Given the description of an element on the screen output the (x, y) to click on. 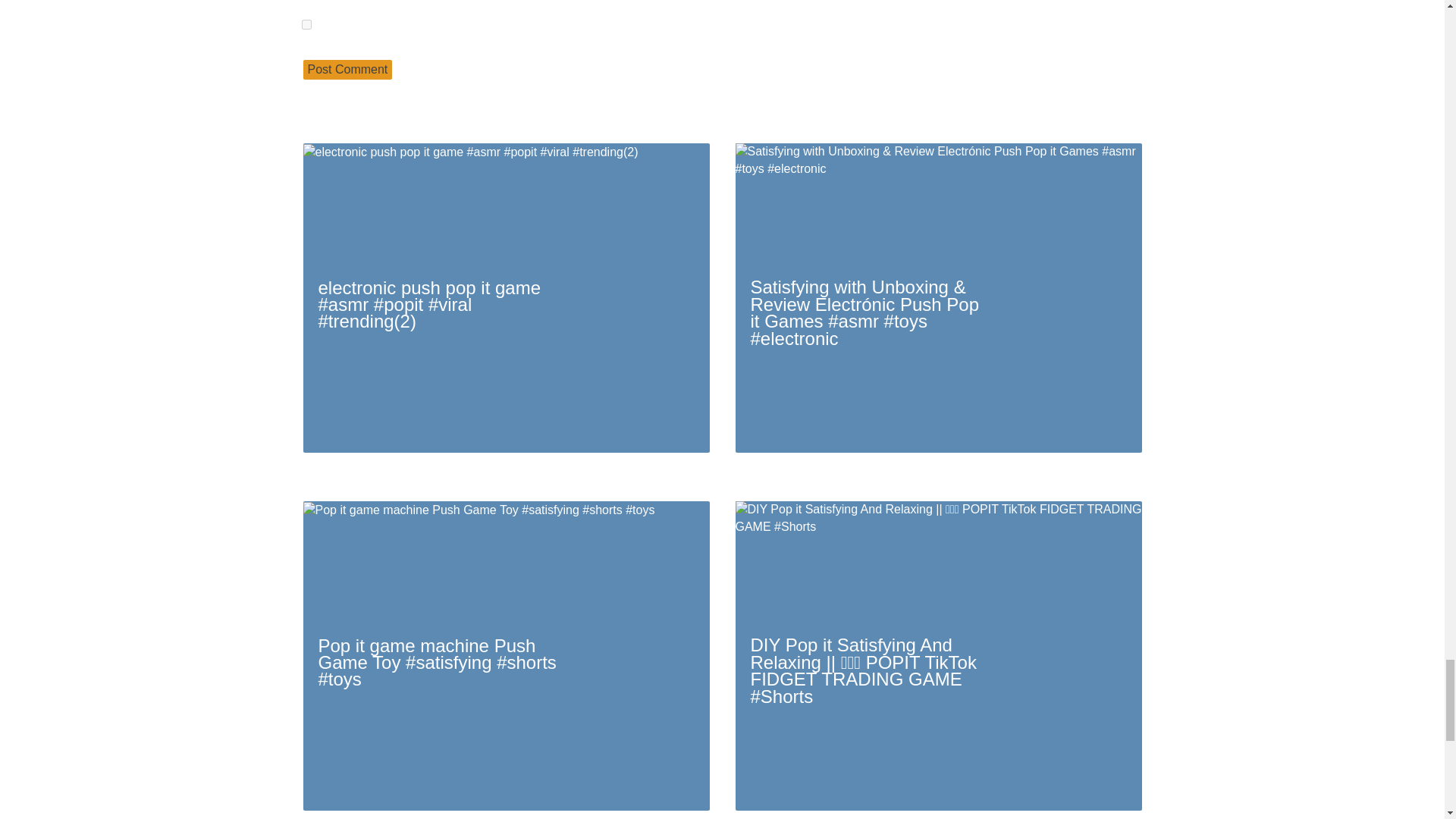
yes (306, 24)
Post Comment (347, 69)
